Given the description of an element on the screen output the (x, y) to click on. 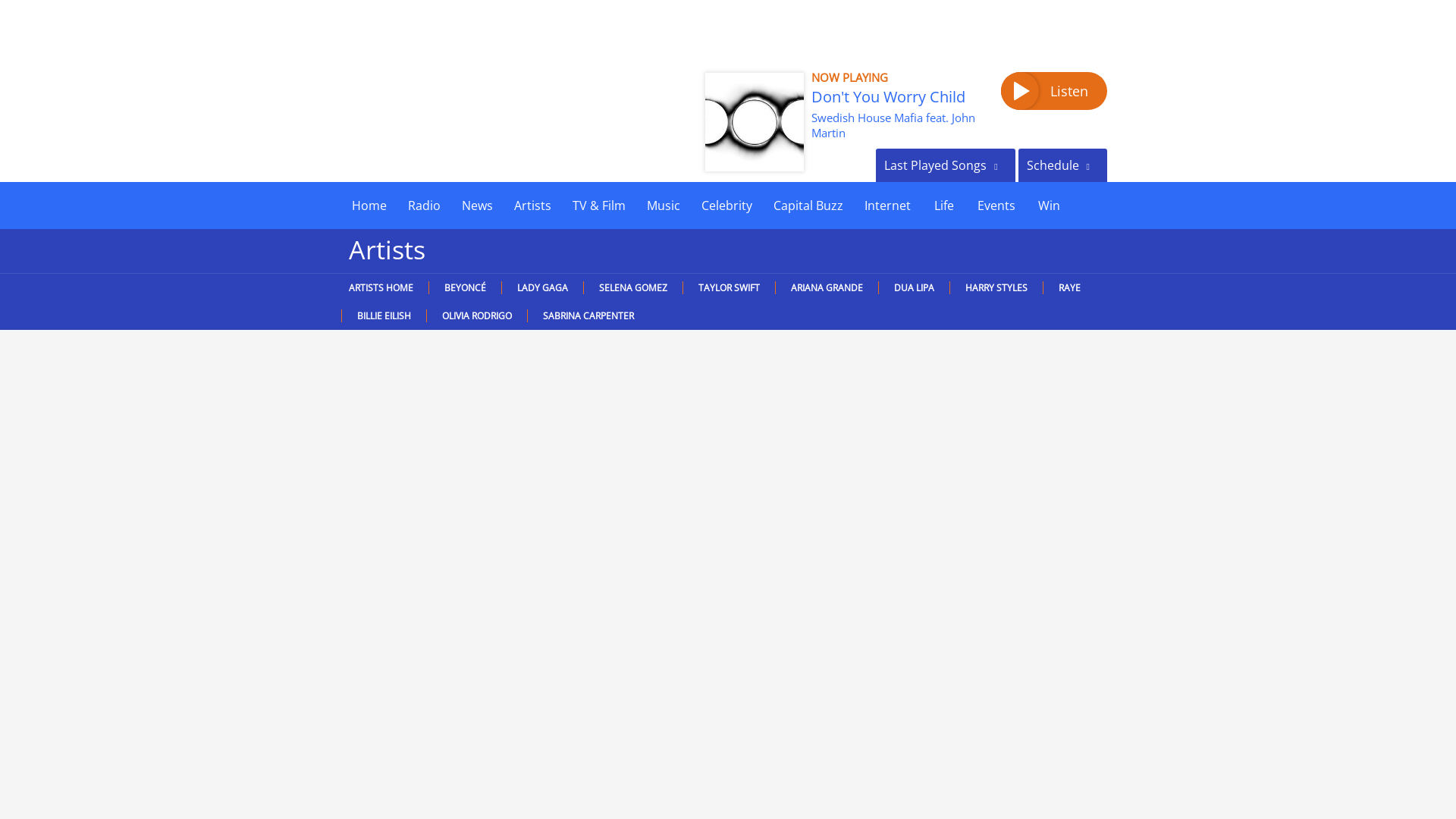
TAYLOR SWIFT (728, 287)
Radio (424, 205)
SELENA GOMEZ (632, 287)
Capital (438, 103)
Home (368, 205)
Music (663, 205)
Life (943, 205)
Capital Buzz (807, 205)
ARTISTS HOME (384, 287)
OLIVIA RODRIGO (476, 315)
